Given the description of an element on the screen output the (x, y) to click on. 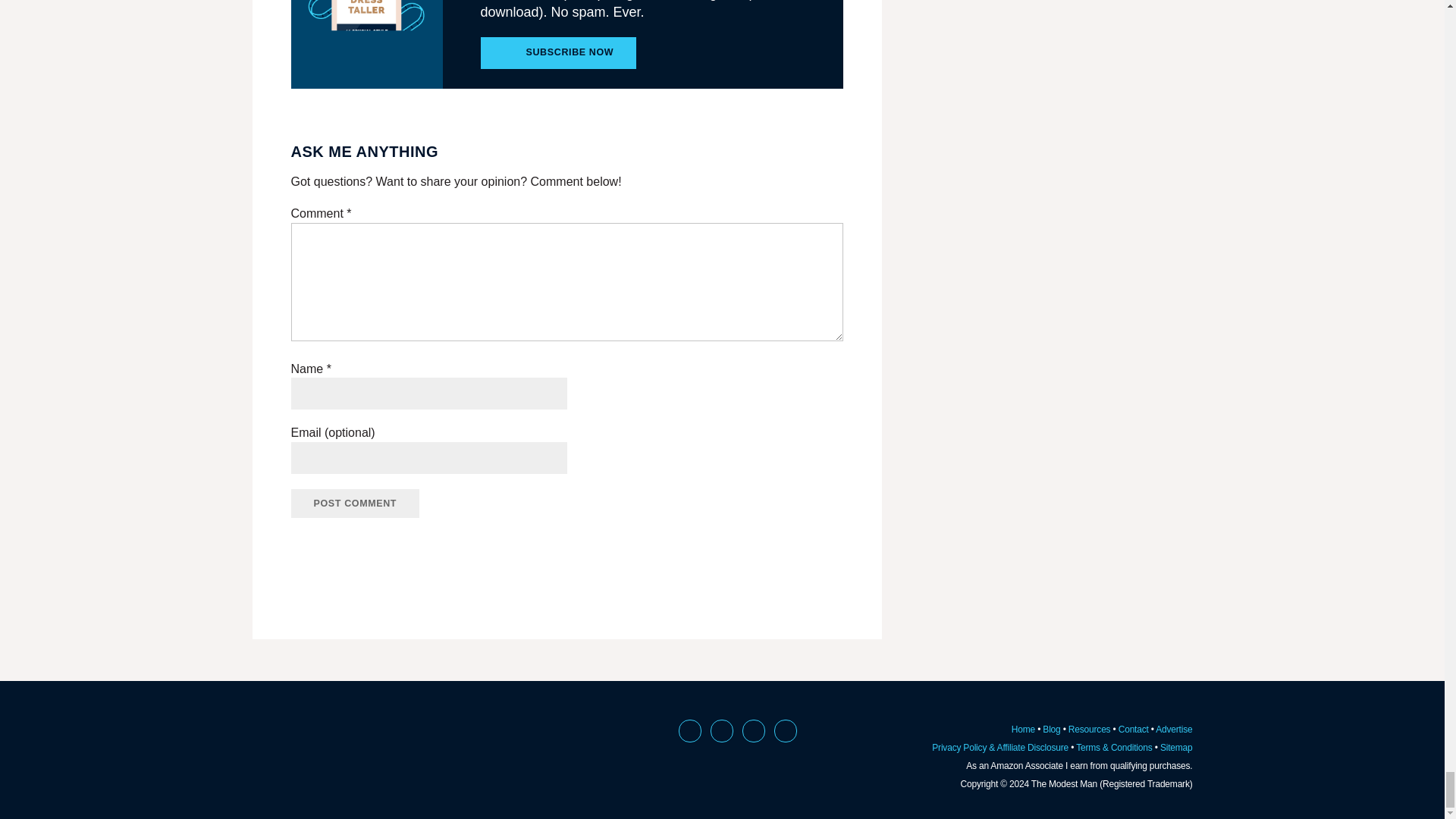
Post Comment (355, 502)
